Given the description of an element on the screen output the (x, y) to click on. 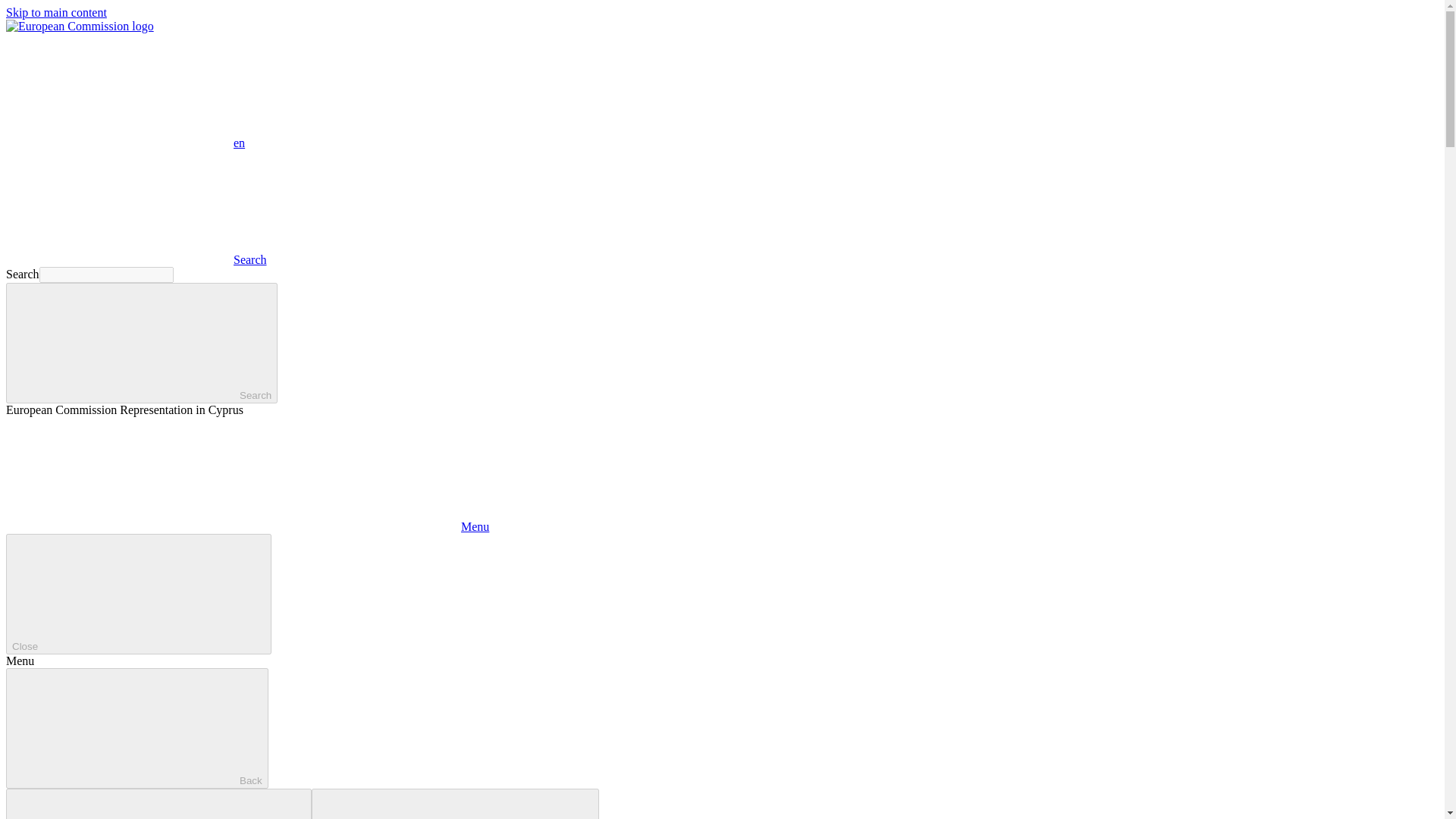
Back (136, 728)
Previous items (158, 803)
Search (135, 259)
Skip to main content (55, 11)
en (118, 90)
Menu (247, 526)
enen (124, 142)
Next items (454, 803)
Close (137, 593)
European Commission (79, 25)
